Given the description of an element on the screen output the (x, y) to click on. 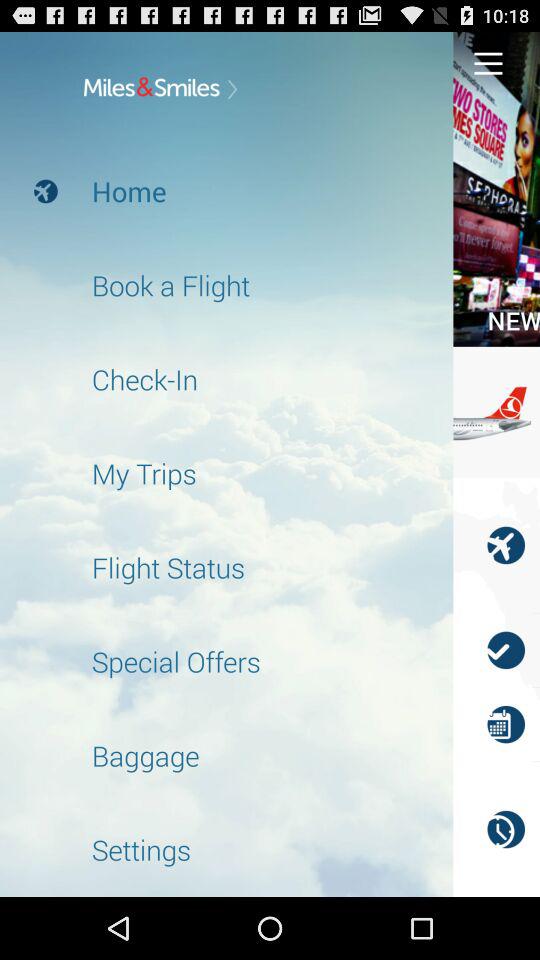
go to options (488, 62)
